Given the description of an element on the screen output the (x, y) to click on. 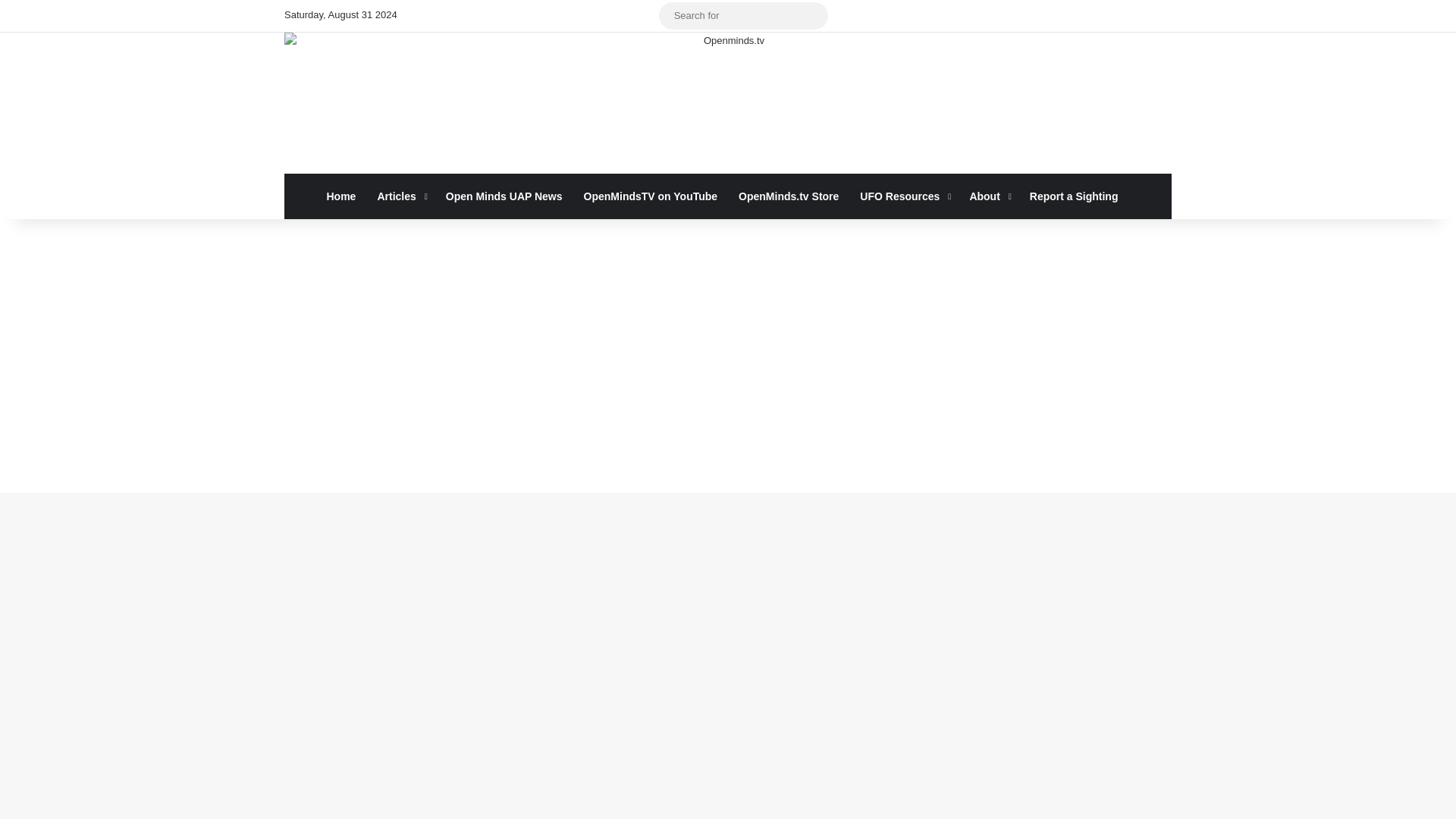
UFO Resources (903, 196)
About (987, 196)
Openminds.tv (727, 102)
Search for (743, 15)
Search for (812, 15)
OpenMinds.tv Store (788, 196)
Home (340, 196)
OpenMindsTV on YouTube (651, 196)
Open Minds UAP News (504, 196)
Articles (399, 196)
